Given the description of an element on the screen output the (x, y) to click on. 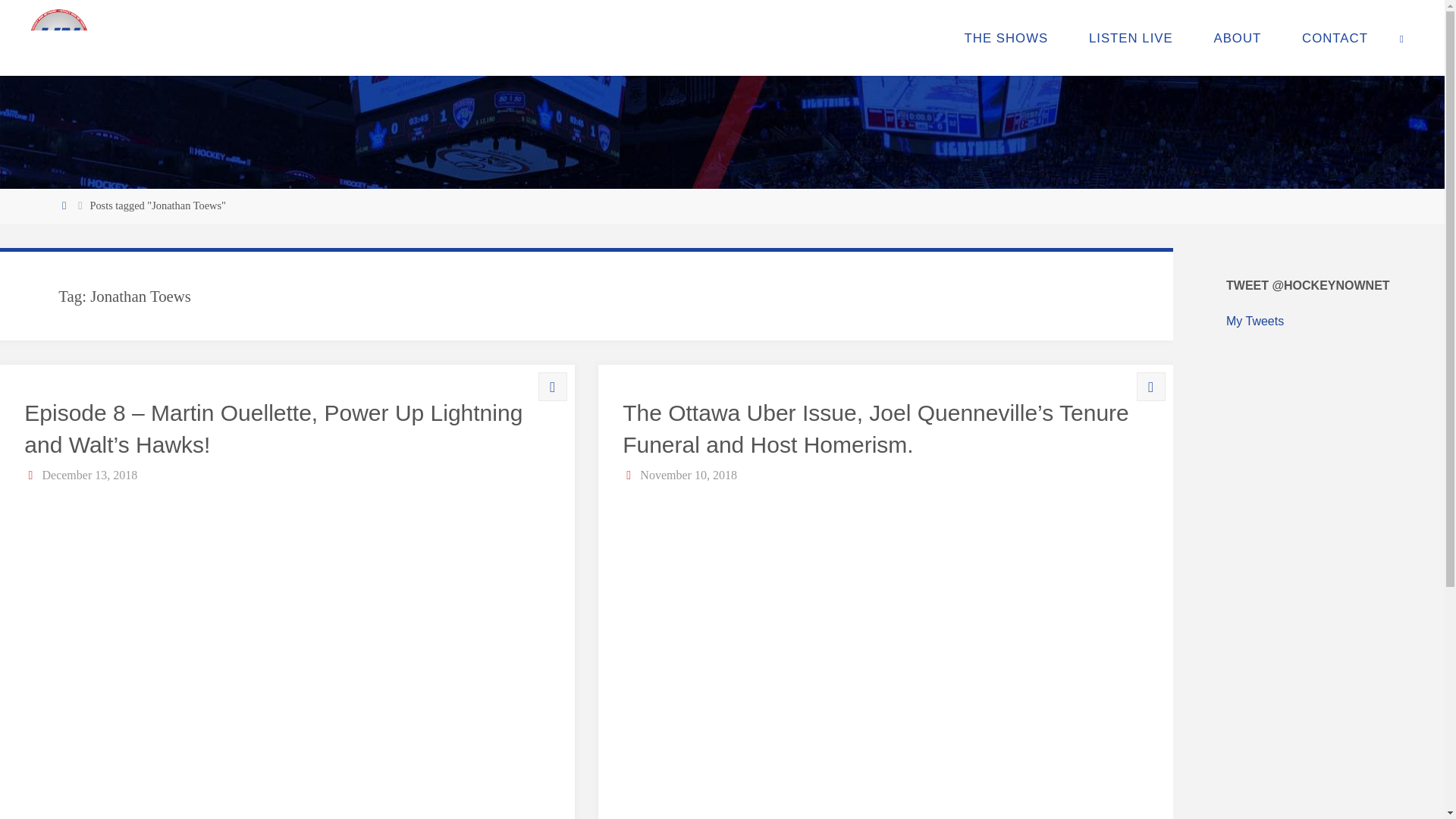
THE SHOWS (1005, 38)
Hockey Now Network (58, 37)
HOCKEY NOW NETWORK (148, 78)
Audio (551, 386)
CONTACT (1335, 38)
My Tweets (1254, 320)
LISTEN LIVE (1130, 38)
ABOUT (1237, 38)
Date (630, 474)
Audio (1149, 386)
